Given the description of an element on the screen output the (x, y) to click on. 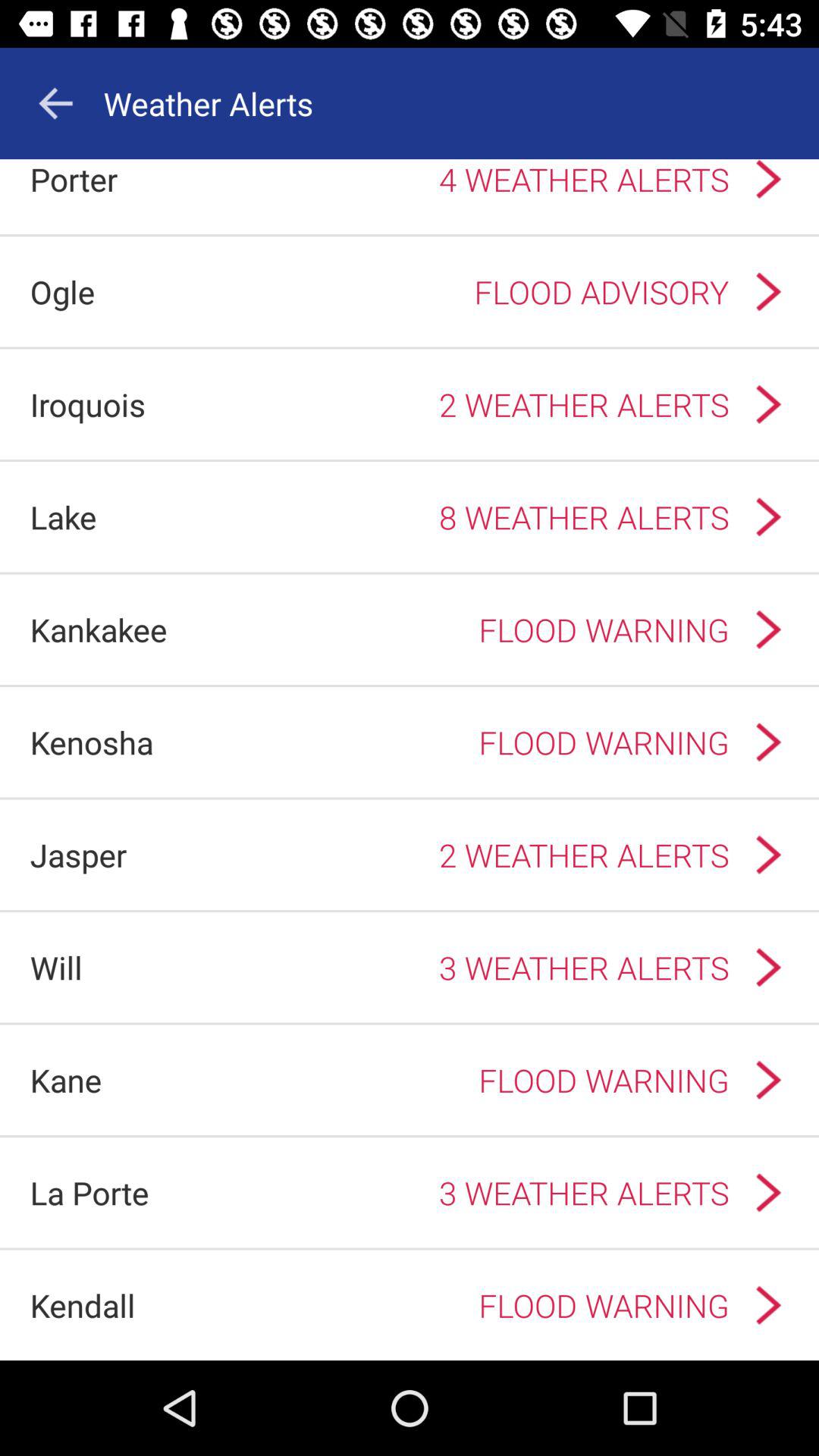
choose the app below kankakee item (91, 741)
